Given the description of an element on the screen output the (x, y) to click on. 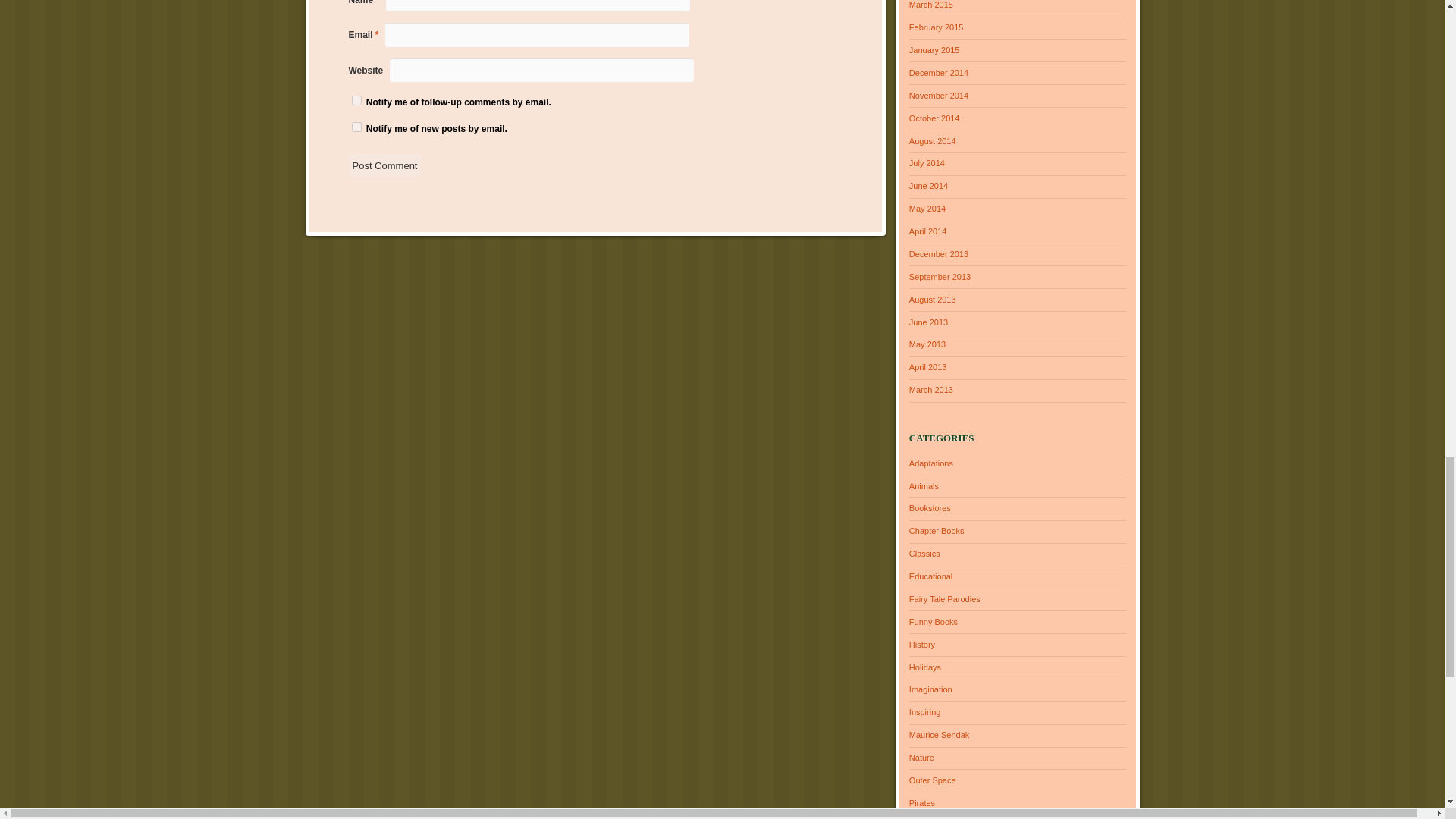
Post Comment (385, 165)
subscribe (356, 126)
Post Comment (385, 165)
subscribe (356, 100)
